Given the description of an element on the screen output the (x, y) to click on. 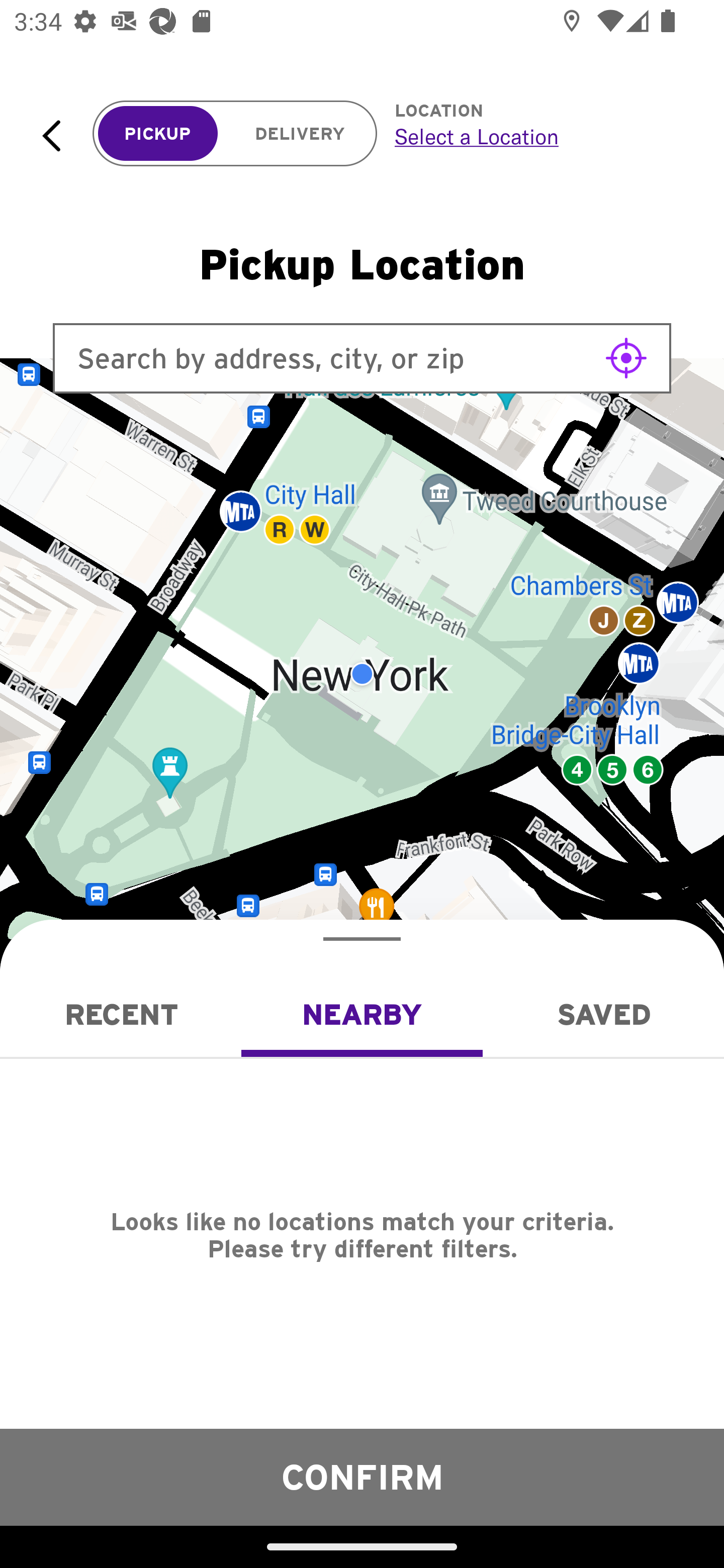
PICKUP (157, 133)
DELIVERY (299, 133)
Select a Location (536, 136)
Search by address, city, or zip (361, 358)
Google Map (362, 674)
Recent RECENT (120, 1014)
Saved SAVED (603, 1014)
CONFIRM (362, 1476)
